Given the description of an element on the screen output the (x, y) to click on. 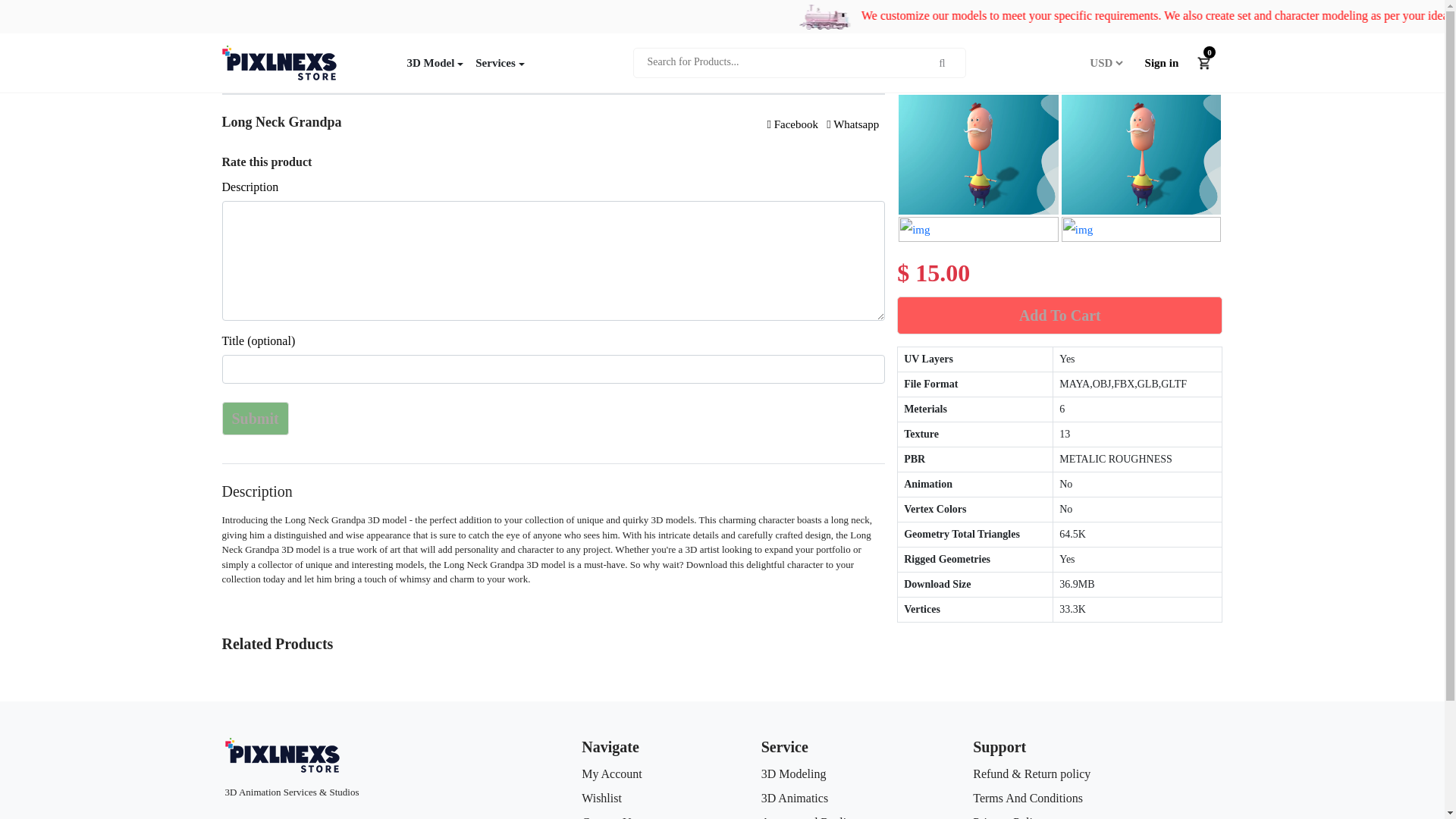
Sign in (1161, 63)
Whatsapp (853, 123)
Pixlnexs Store (278, 62)
3D Model (434, 62)
Pixlnexs Store (281, 755)
Services (498, 62)
Facebook (792, 123)
